Given the description of an element on the screen output the (x, y) to click on. 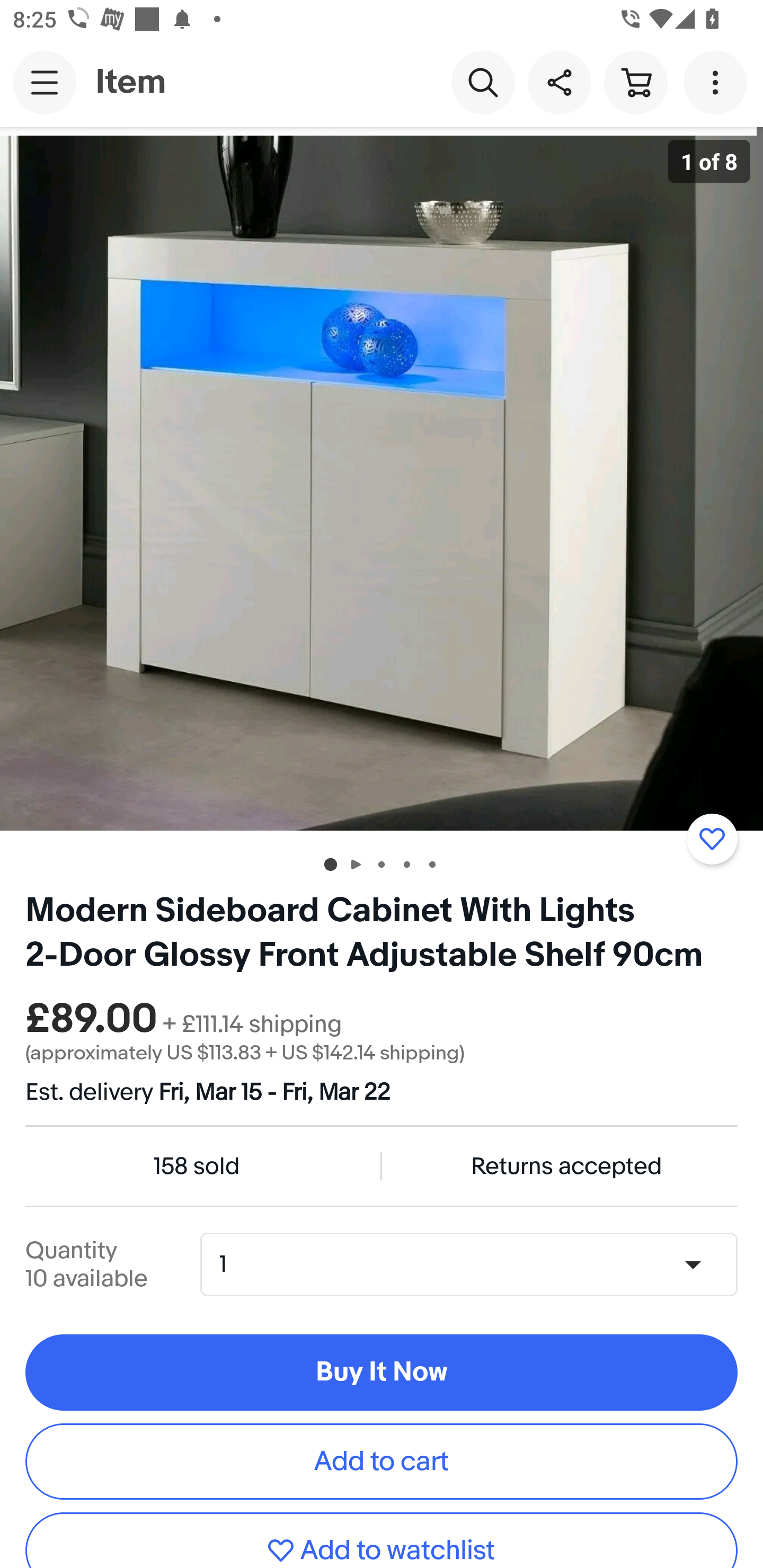
Main navigation, open (44, 82)
Search (482, 81)
Share this item (559, 81)
Cart button shopping cart (635, 81)
More options (718, 81)
Item image 1 of 8 (381, 482)
Add to watchlist (711, 838)
Quantity,1,10 available 1 (474, 1264)
Buy It Now (381, 1372)
Add to cart (381, 1461)
Add to watchlist (381, 1540)
